Given the description of an element on the screen output the (x, y) to click on. 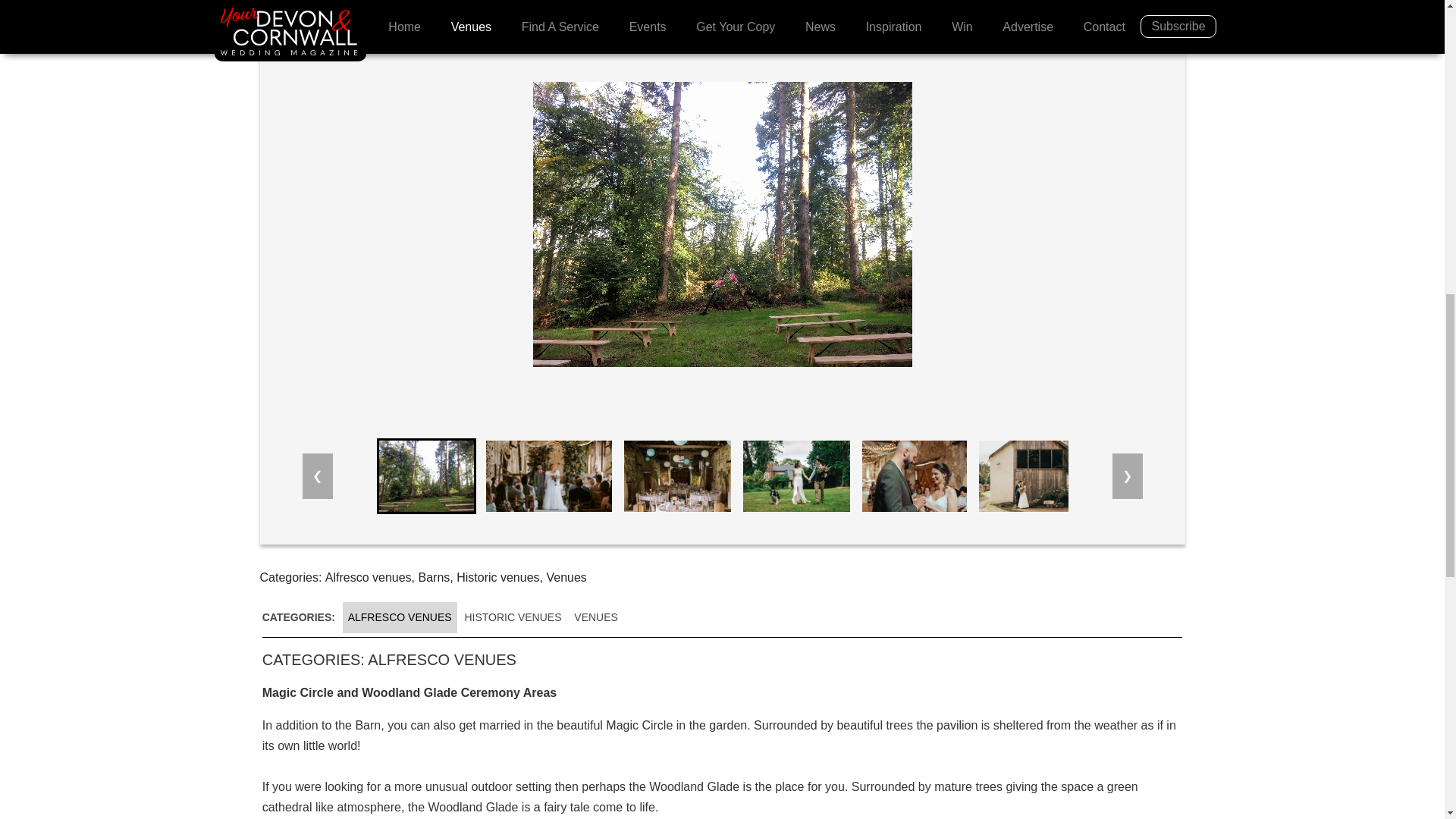
ALFRESCO VENUES (399, 617)
HISTORIC VENUES (512, 617)
VENUES (596, 617)
